Given the description of an element on the screen output the (x, y) to click on. 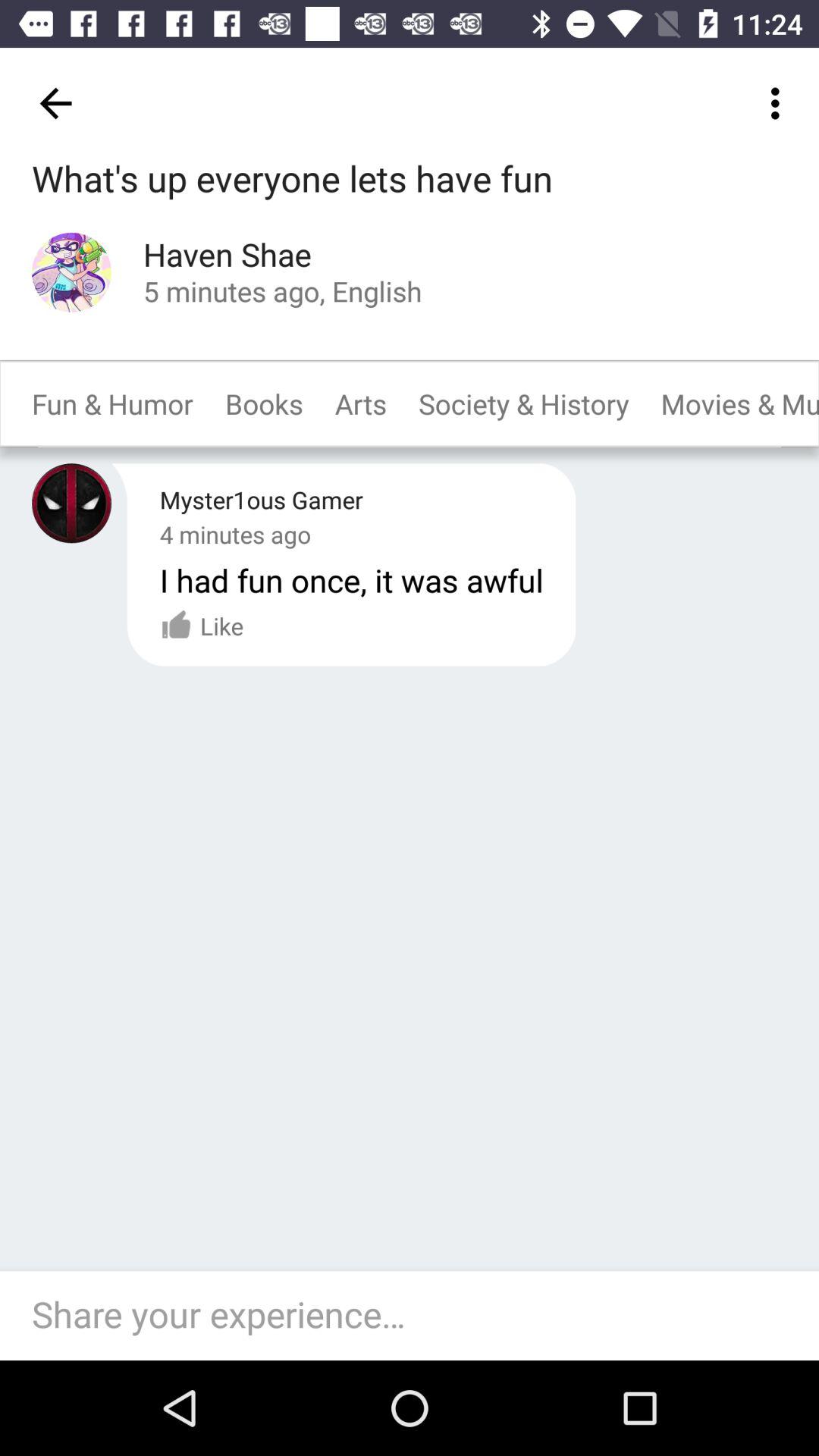
flip to the what s up icon (291, 179)
